Given the description of an element on the screen output the (x, y) to click on. 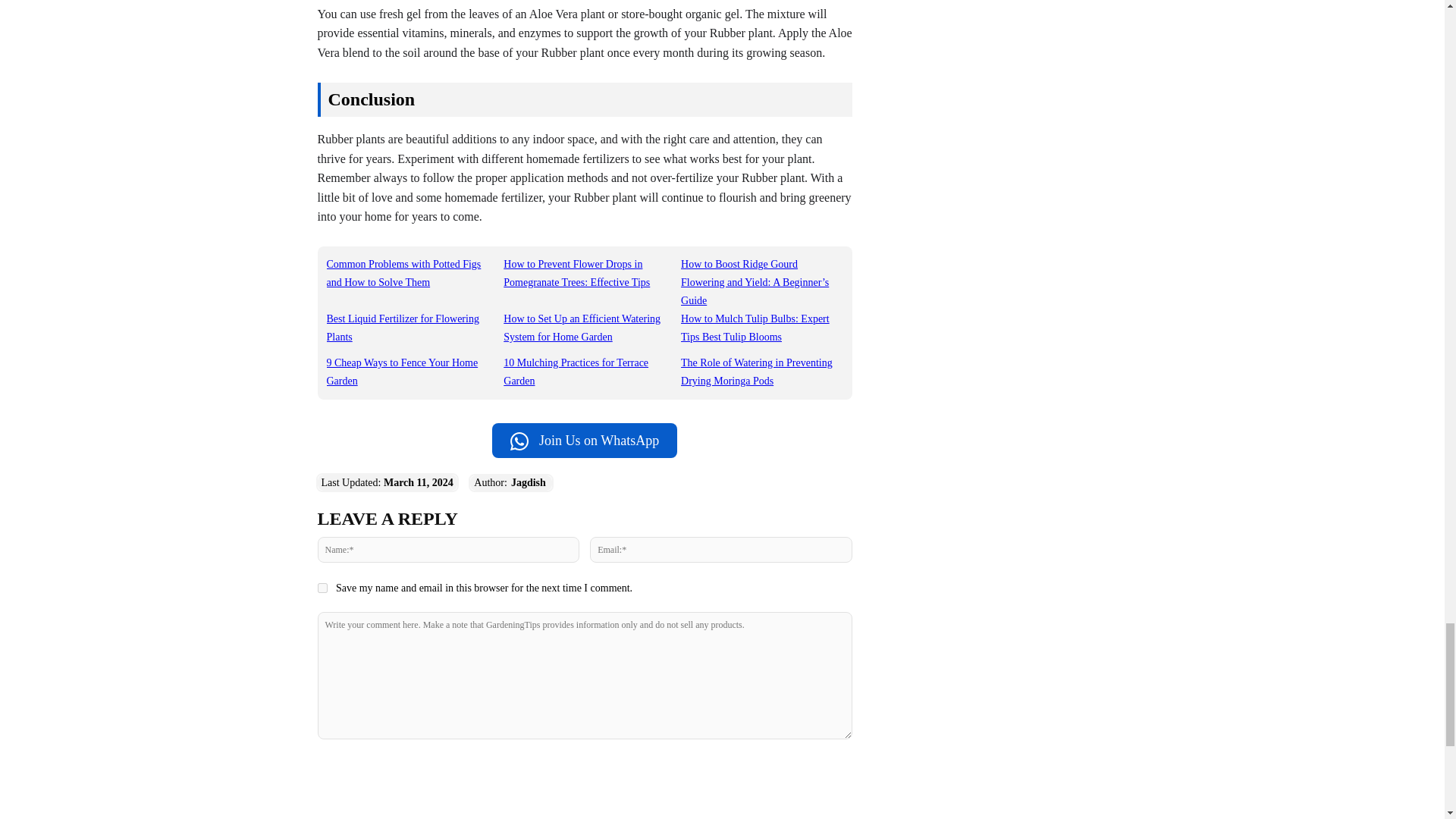
yes (321, 587)
Join Us on WhatsApp (584, 440)
Post Comment (584, 769)
